Given the description of an element on the screen output the (x, y) to click on. 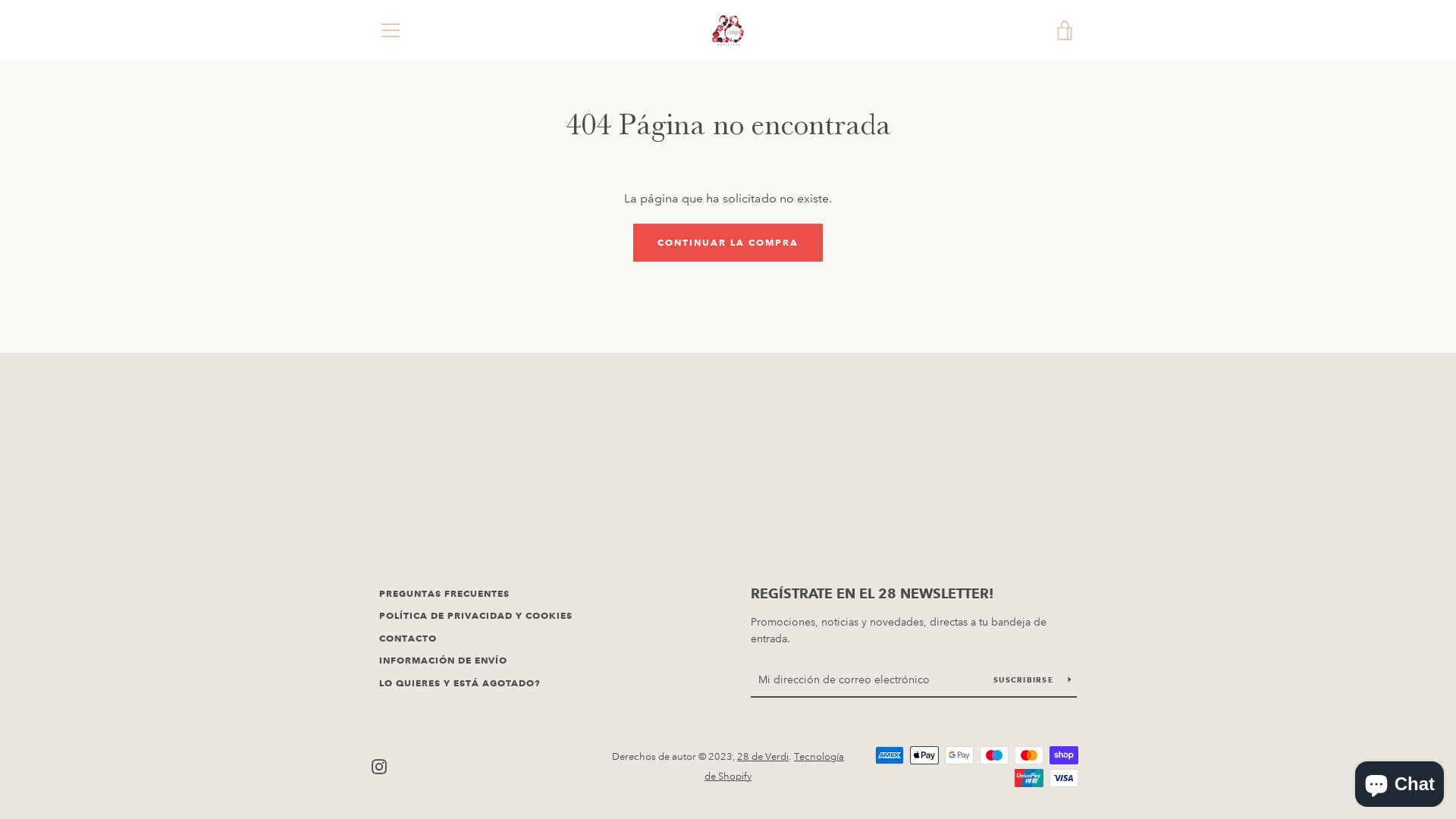
SUSCRIBIRSE Element type: text (1032, 679)
28 de Verdi Element type: text (762, 756)
Ir directamente al contenido Element type: text (0, 0)
CONTACTO Element type: text (407, 637)
Instagram Element type: text (378, 765)
CONTINUAR LA COMPRA Element type: text (727, 242)
VER CARRITO Element type: text (1065, 30)
Chat de la tienda online Shopify Element type: hover (1399, 780)
PREGUNTAS FRECUENTES Element type: text (444, 593)
